Given the description of an element on the screen output the (x, y) to click on. 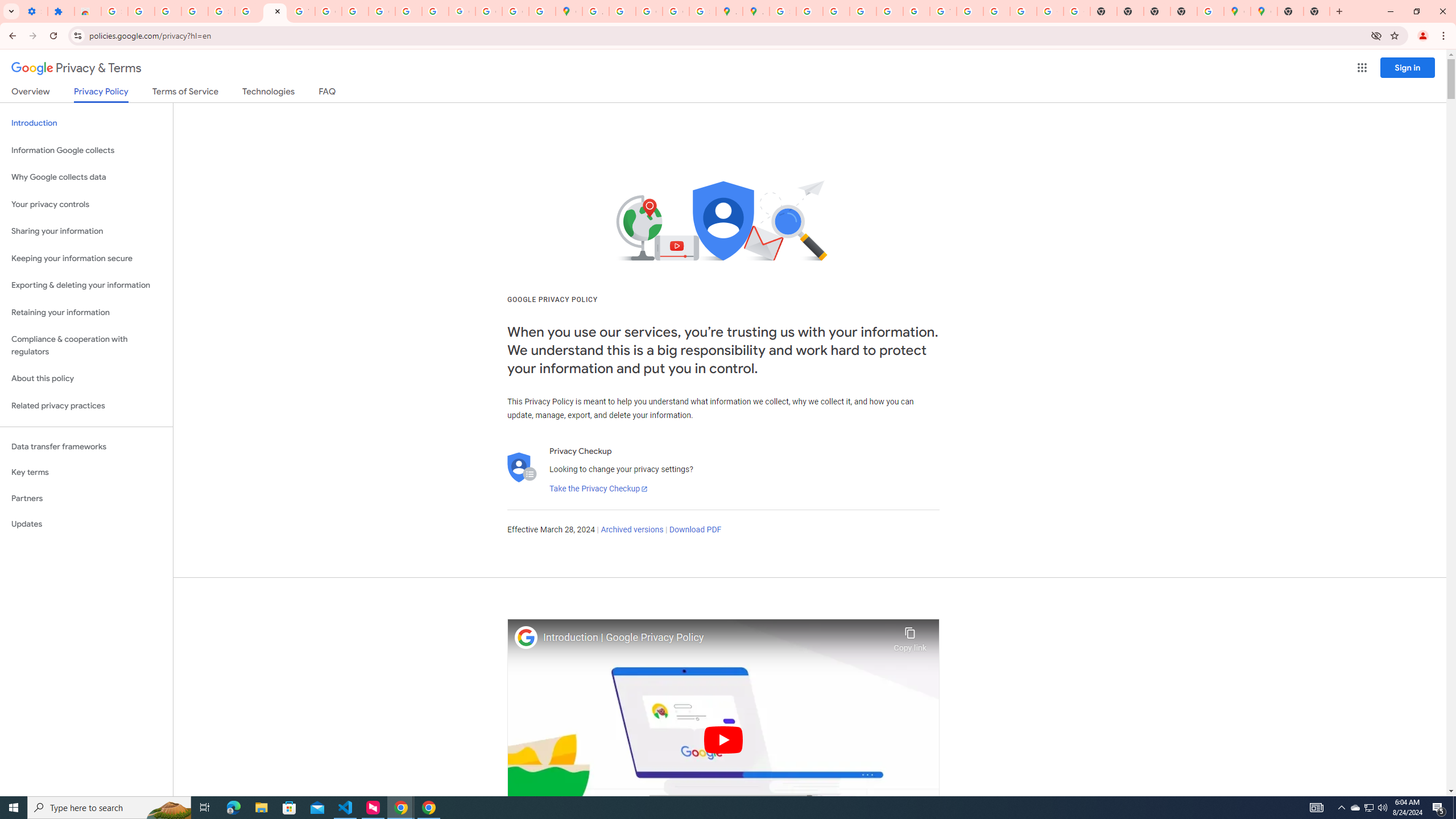
Privacy Help Center - Policies Help (862, 11)
Information Google collects (86, 150)
Settings - On startup (34, 11)
New Tab (1316, 11)
Retaining your information (86, 312)
Sharing your information (86, 230)
